Given the description of an element on the screen output the (x, y) to click on. 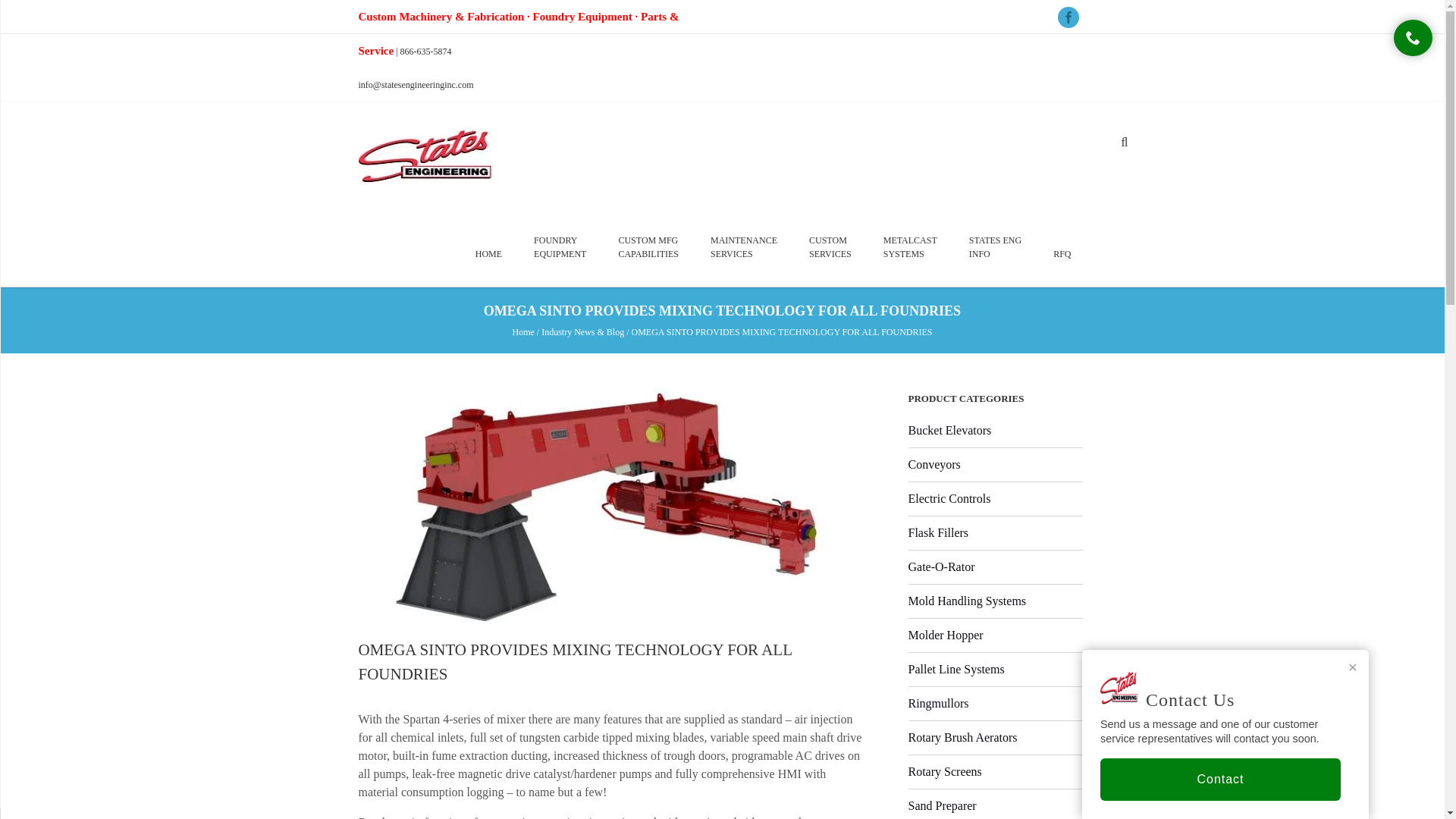
HOME (488, 253)
OMEGA SINTO PROVIDES MIXING TECHNOLOGY FOR ALL FOUNDRIES (575, 661)
